Given the description of an element on the screen output the (x, y) to click on. 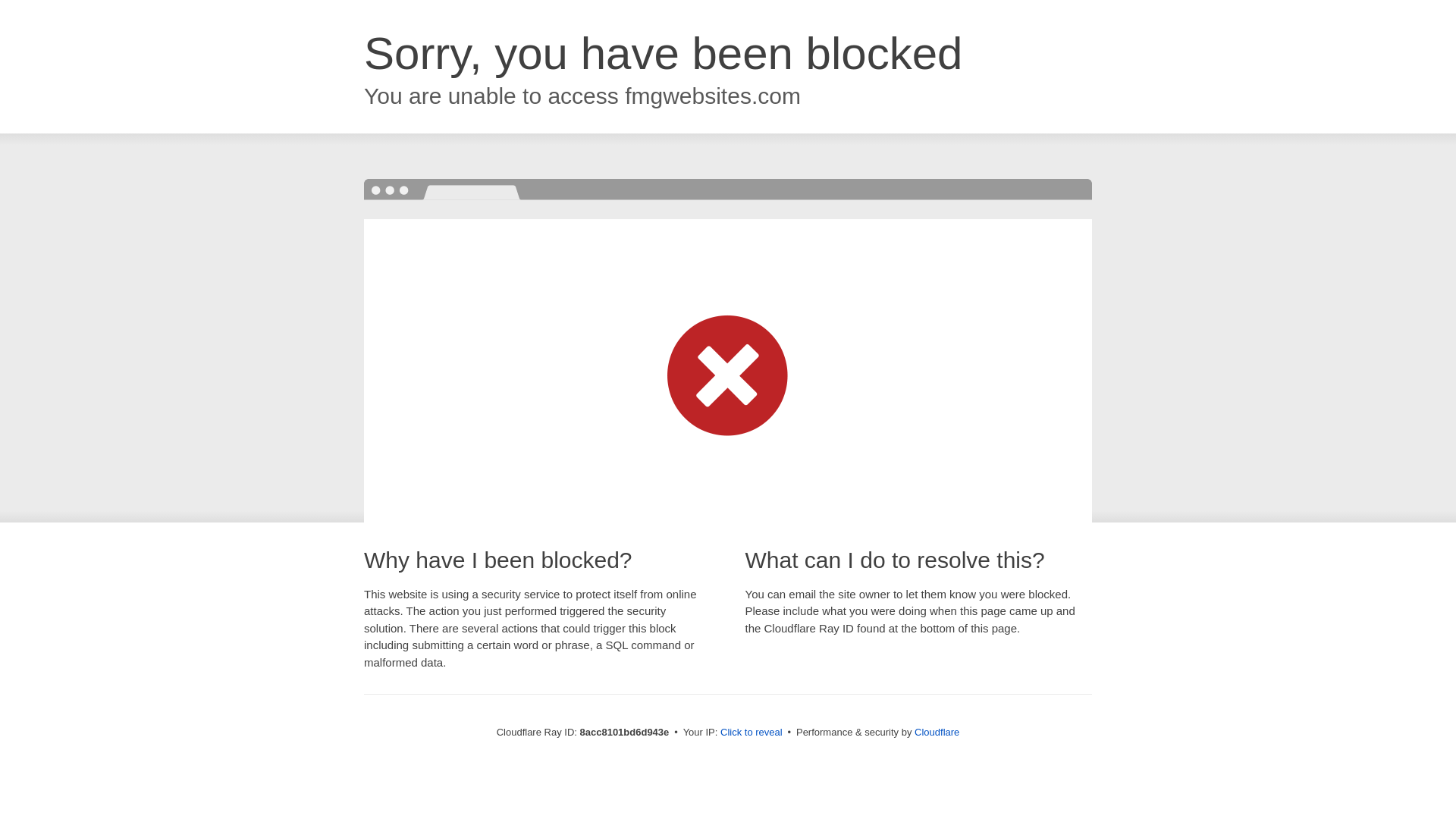
Click to reveal (751, 732)
Cloudflare (936, 731)
